Given the description of an element on the screen output the (x, y) to click on. 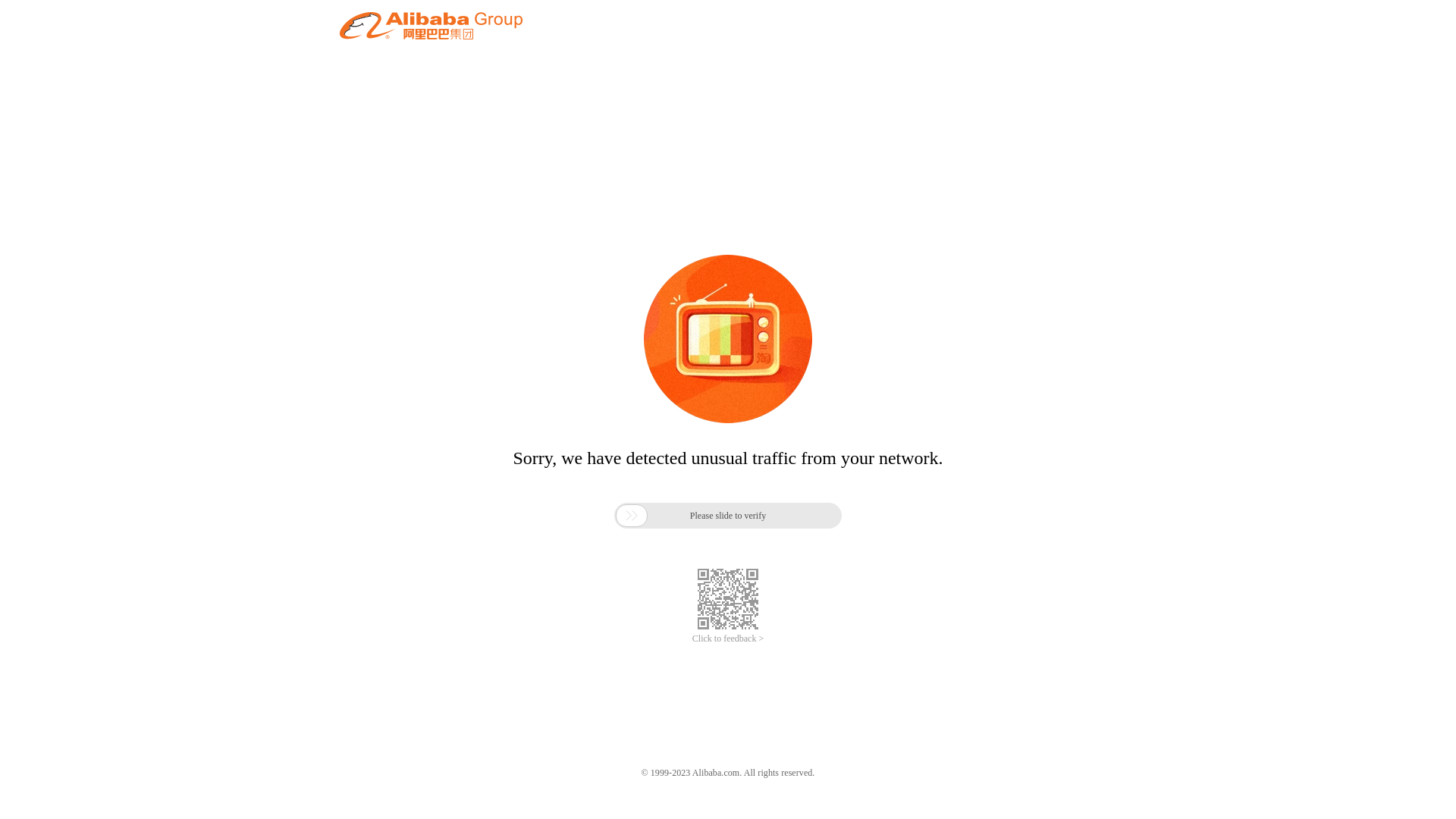
Click to feedback > Element type: text (727, 638)
